Given the description of an element on the screen output the (x, y) to click on. 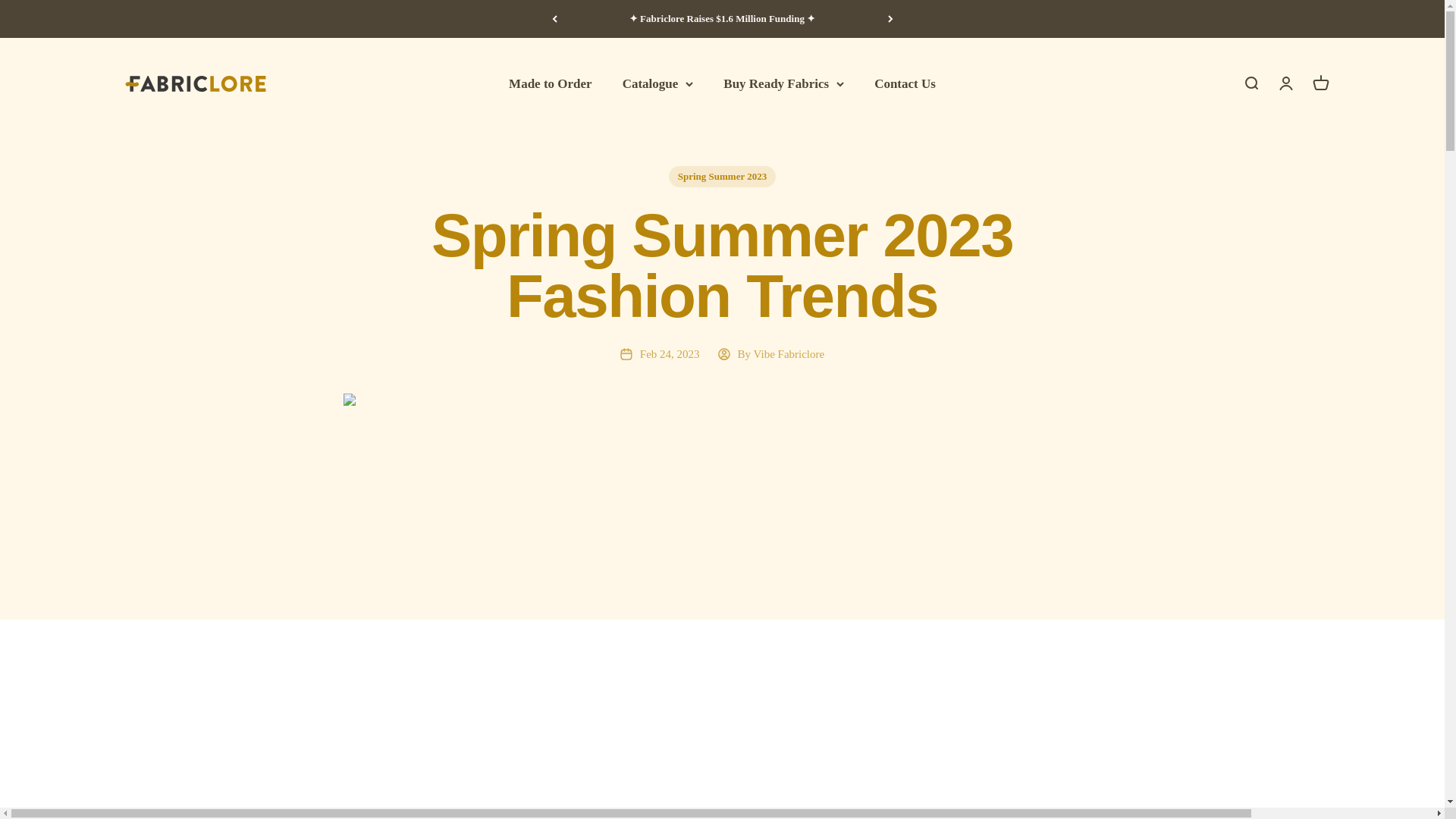
Made to Order (550, 83)
